Given the description of an element on the screen output the (x, y) to click on. 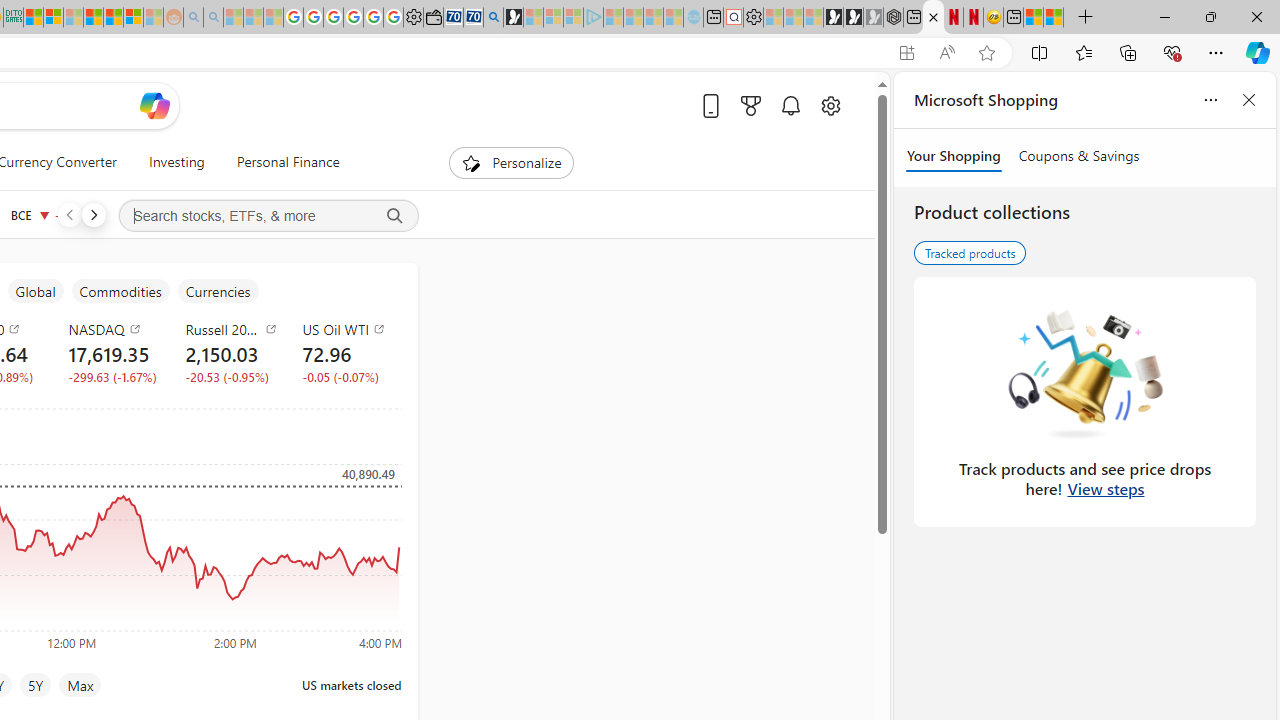
App available. Install Start Money (906, 53)
Investing (176, 162)
Cheap Car Rentals - Save70.com (472, 17)
Max (80, 684)
